Given the description of an element on the screen output the (x, y) to click on. 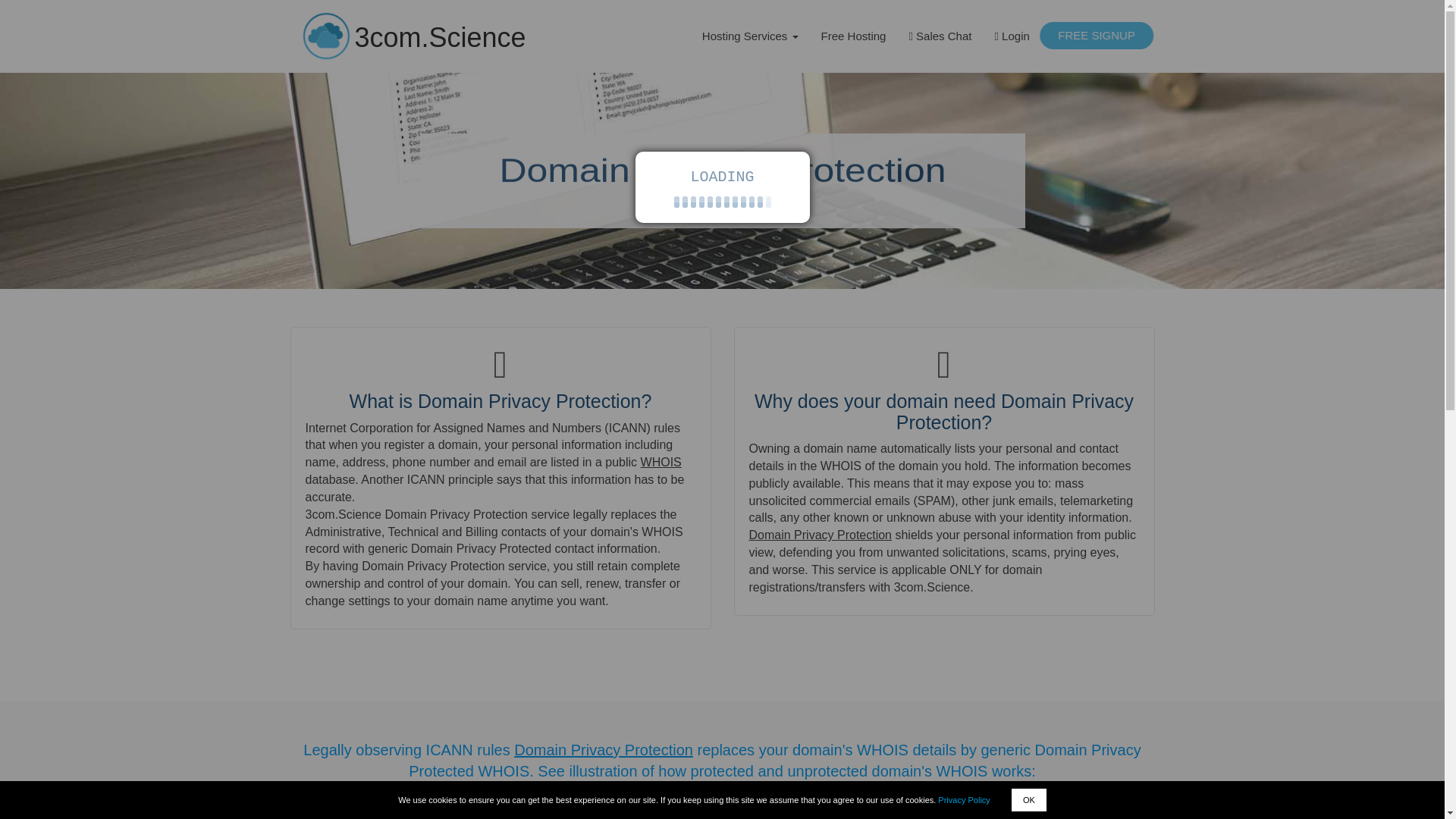
Hosting Services (749, 36)
FREE SIGNUP (1097, 35)
Free Hosting (853, 36)
Sales Chat (939, 36)
